Given the description of an element on the screen output the (x, y) to click on. 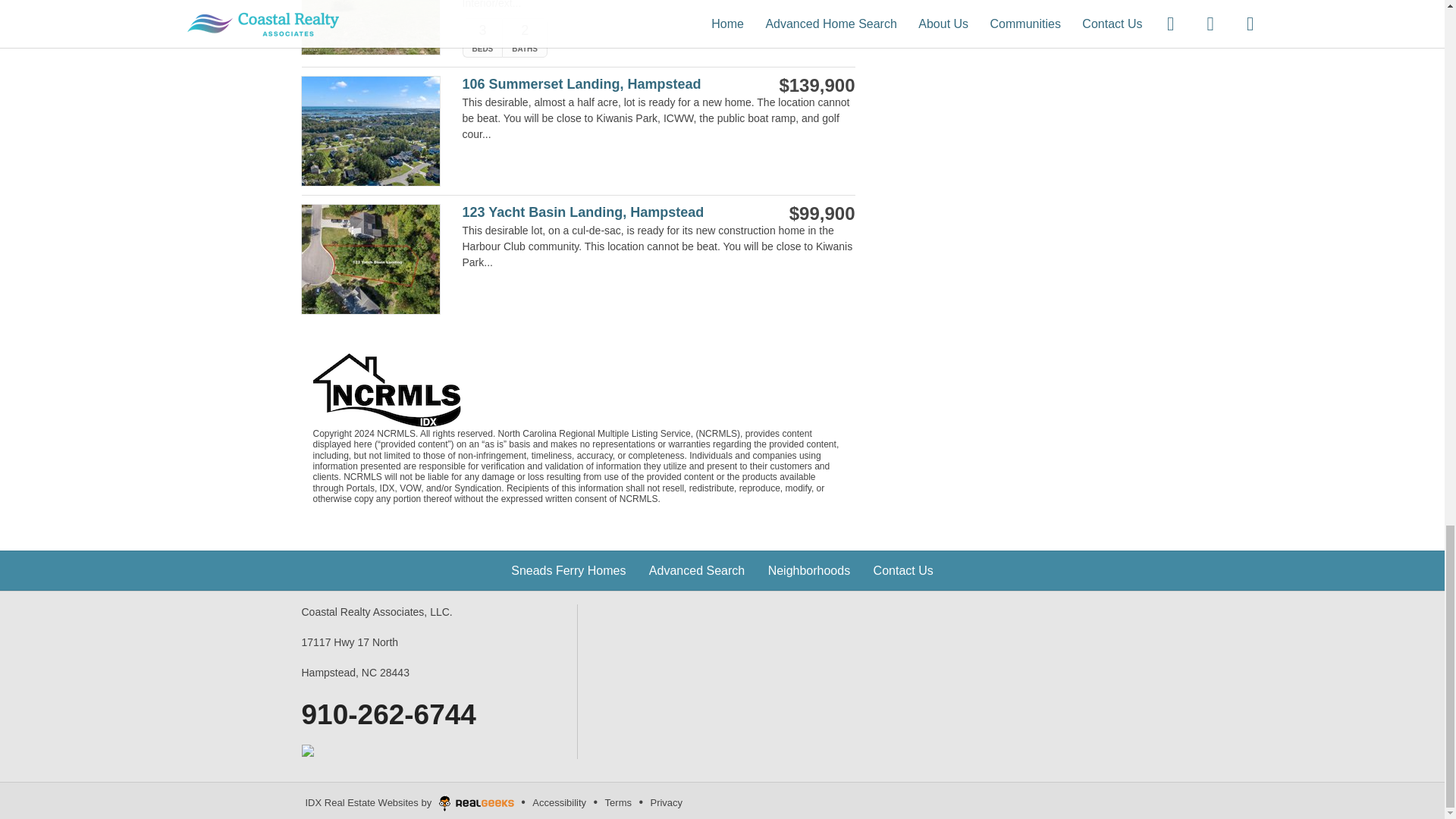
123 Yacht Basin Landing, Hampstead (600, 212)
106 Summerset Landing, Hampstead (600, 84)
